Given the description of an element on the screen output the (x, y) to click on. 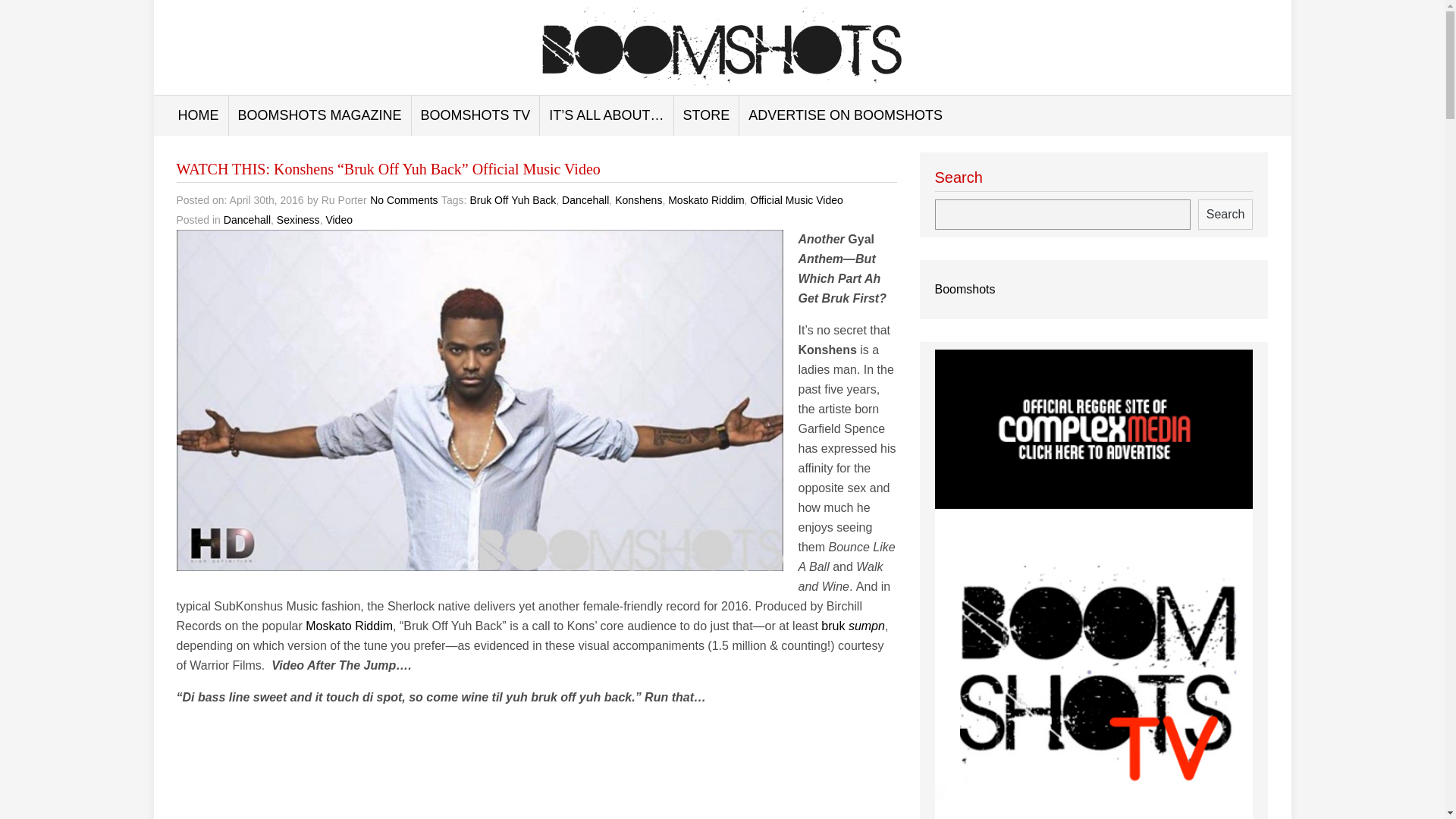
Dancehall (585, 200)
Dancehall (247, 219)
bruk sumpn (853, 625)
Moskato Riddim (349, 625)
ADVERTISE ON BOOMSHOTS (845, 115)
BOOMSHOTS TV (476, 115)
Konshens (638, 200)
STORE (706, 115)
Bruk Off Yuh Back (512, 200)
Moskato Riddim (706, 200)
